Given the description of an element on the screen output the (x, y) to click on. 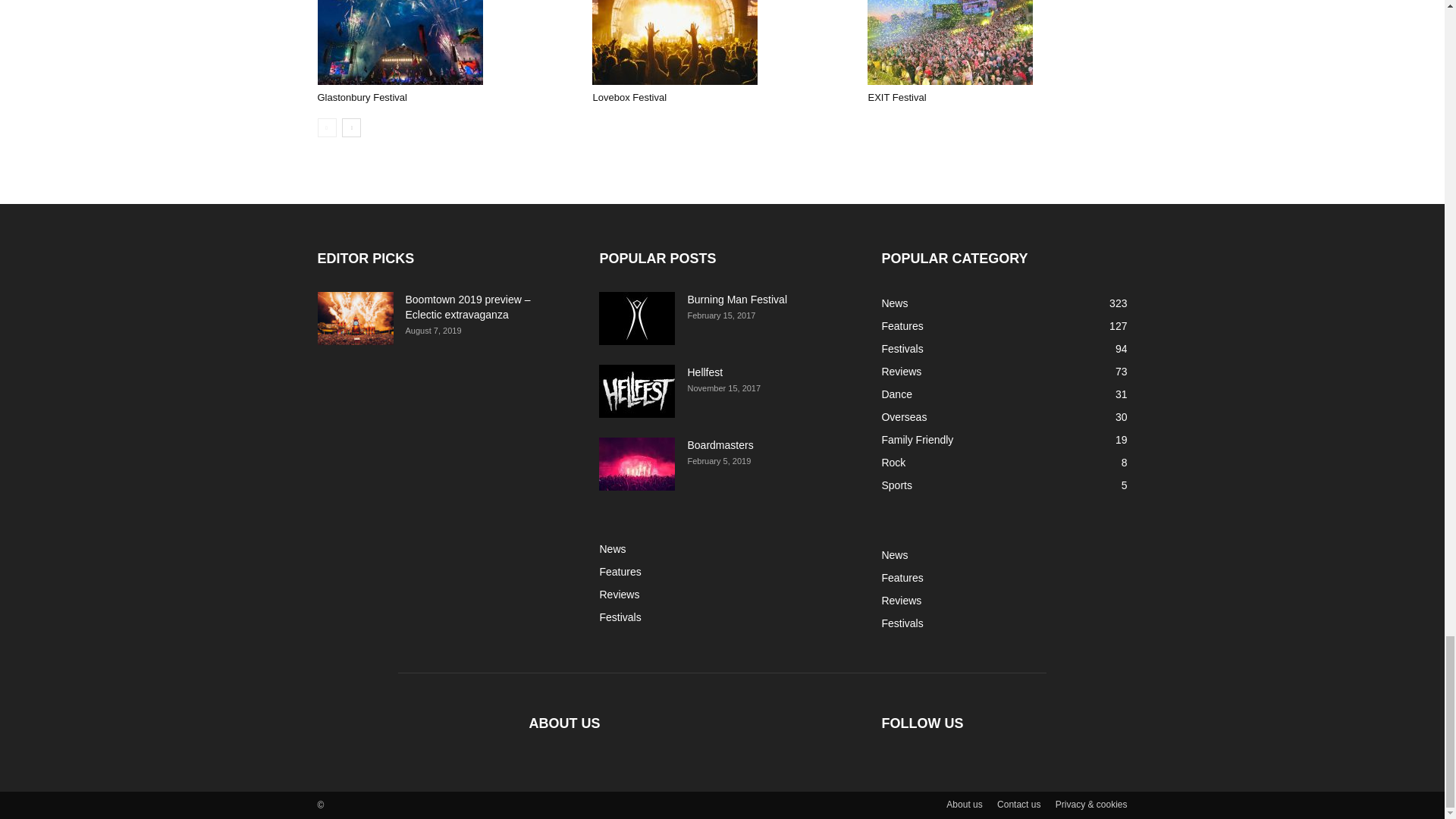
Lovebox Festival (629, 97)
EXIT Festival (996, 42)
EXIT Festival (949, 42)
Lovebox Festival (674, 42)
Glastonbury Festival (446, 42)
EXIT Festival (896, 97)
Lovebox Festival (721, 42)
Glastonbury Festival (362, 97)
Glastonbury Festival (399, 42)
